Given the description of an element on the screen output the (x, y) to click on. 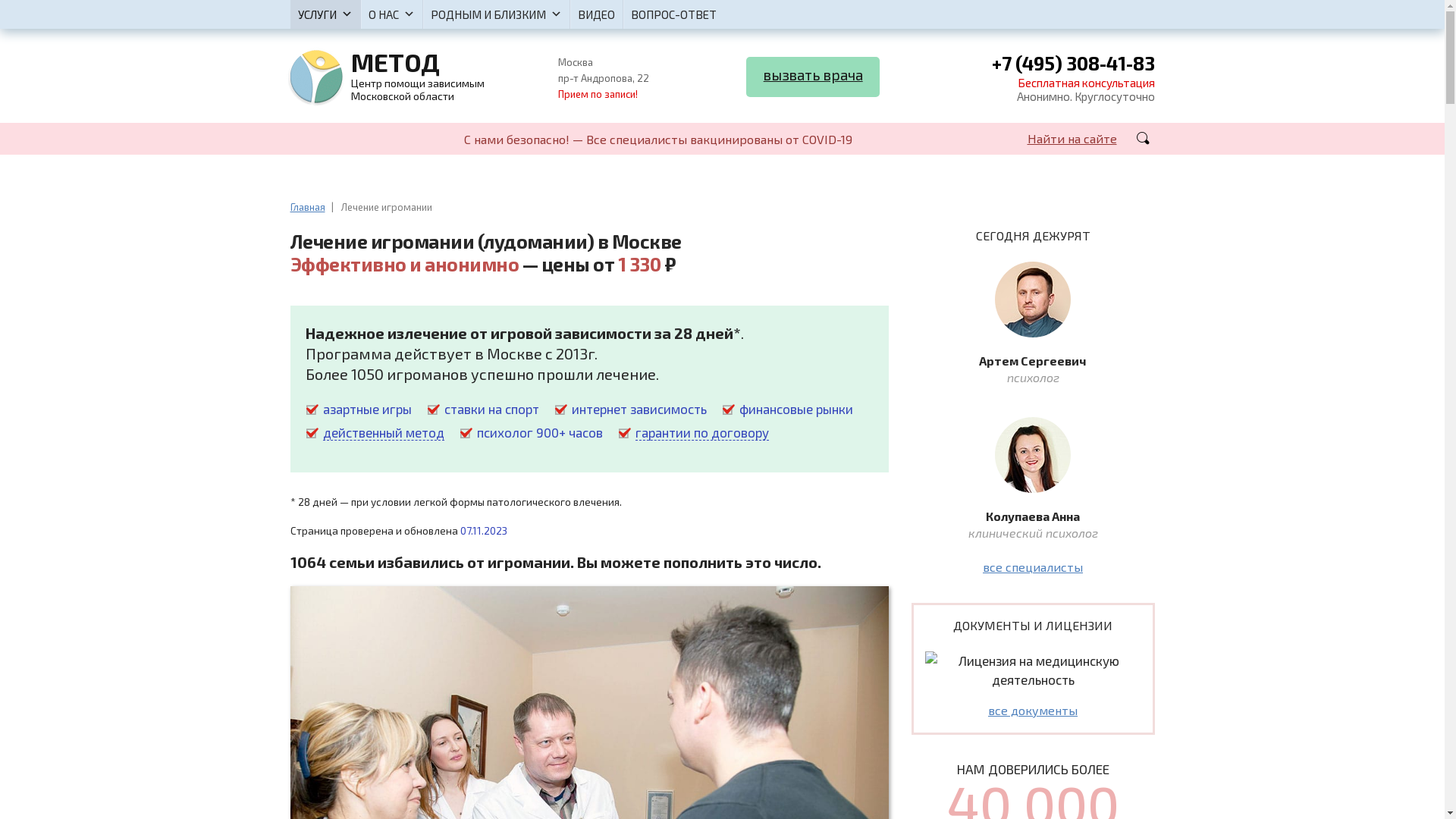
+7 (495) 308-41-83 Element type: text (1072, 64)
